Given the description of an element on the screen output the (x, y) to click on. 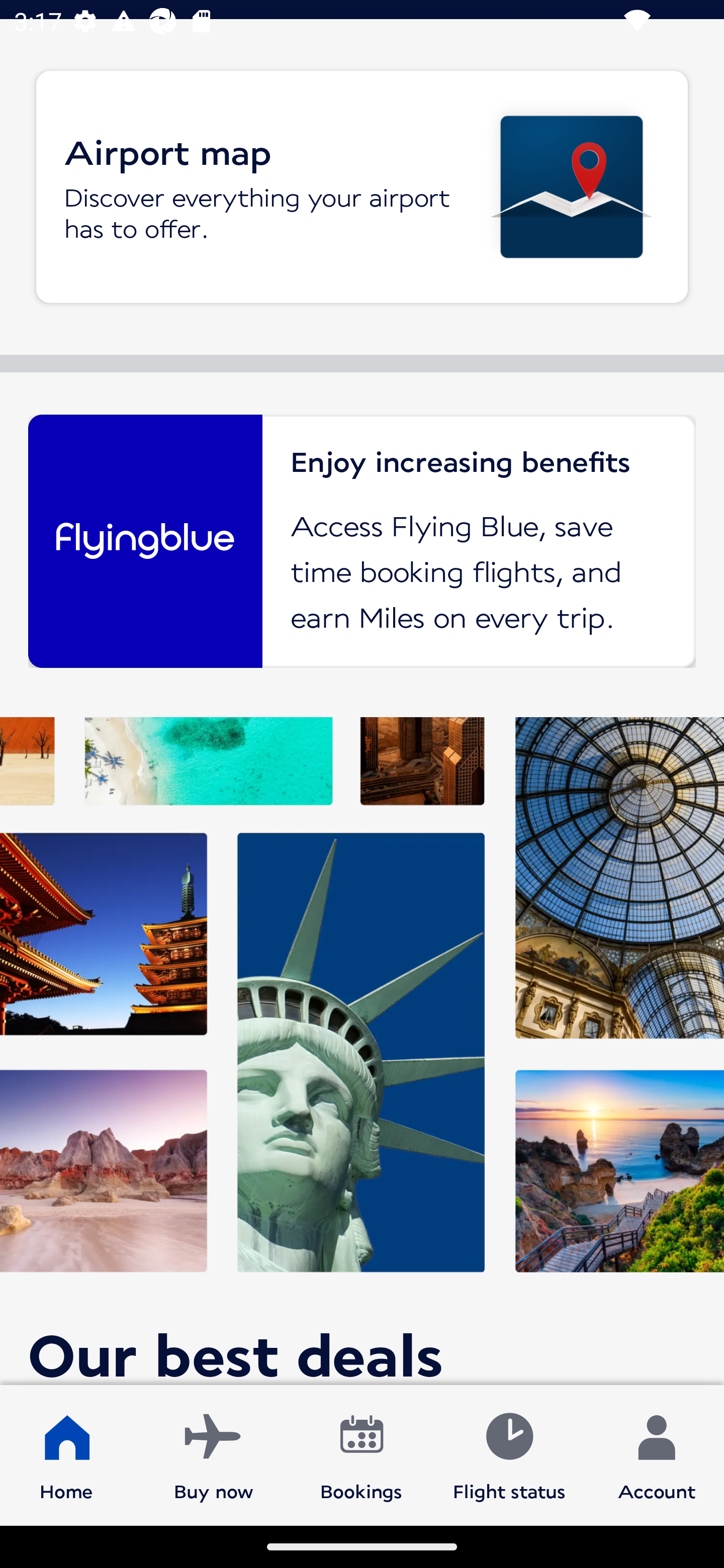
Our best deals (362, 1050)
Buy now (213, 1454)
Bookings (361, 1454)
Flight status (509, 1454)
Account (657, 1454)
